Given the description of an element on the screen output the (x, y) to click on. 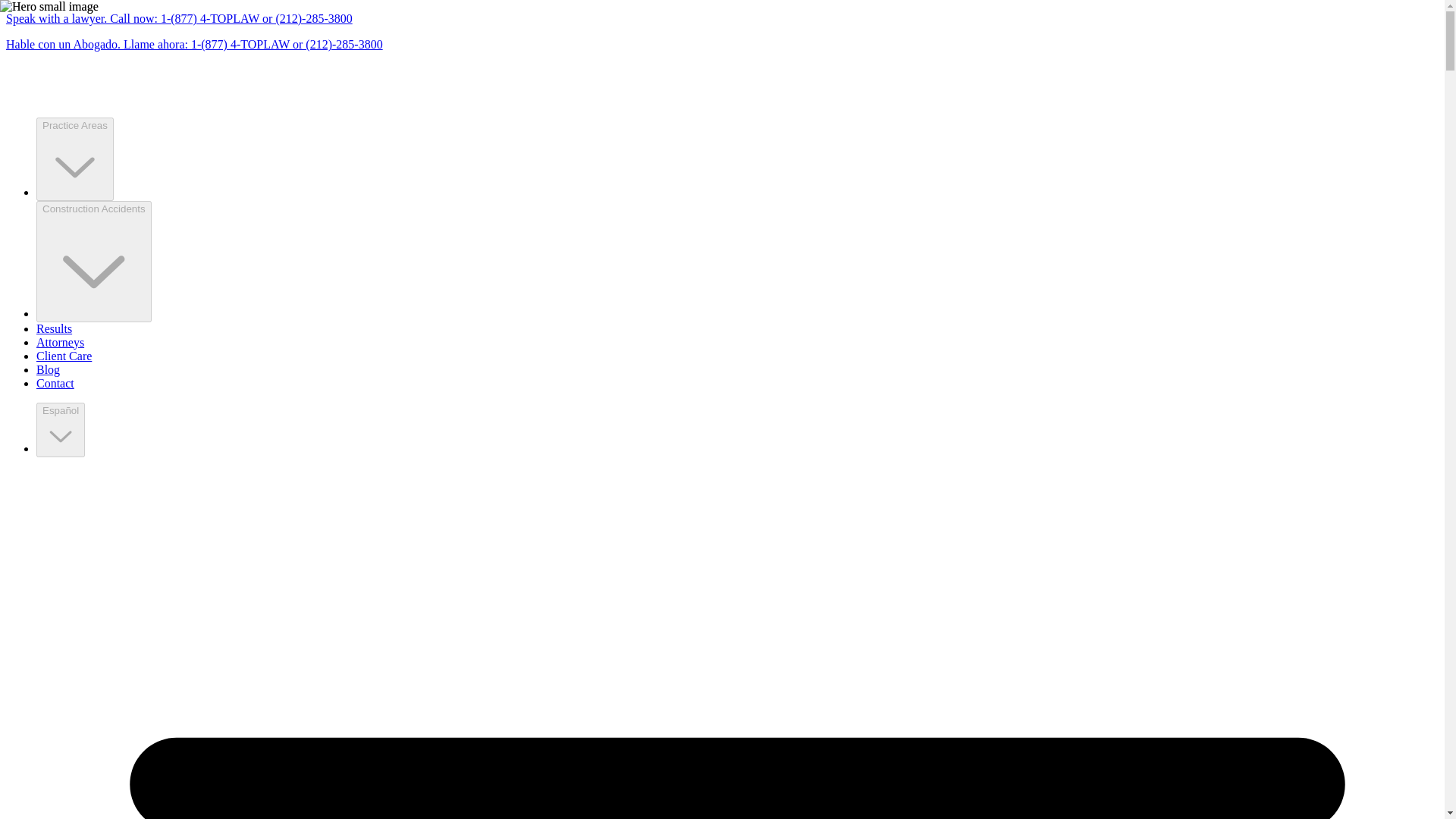
Attorneys (60, 341)
Blog (47, 369)
Practice Areas (74, 125)
Contact (55, 382)
Practice Areas (74, 158)
Results (53, 328)
Client Care (63, 355)
Construction Accidents (93, 208)
Construction Accidents (93, 261)
